Given the description of an element on the screen output the (x, y) to click on. 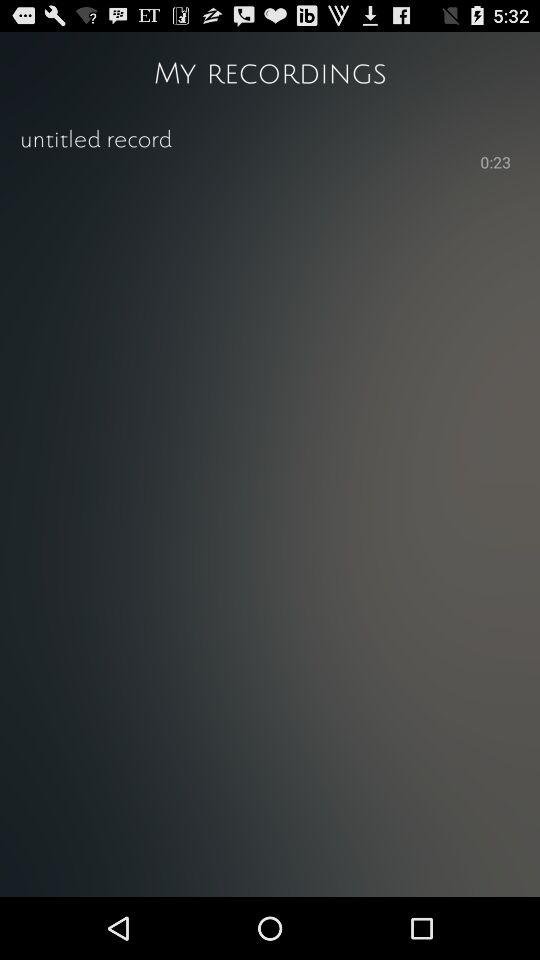
open the icon below the untitled record item (495, 163)
